Given the description of an element on the screen output the (x, y) to click on. 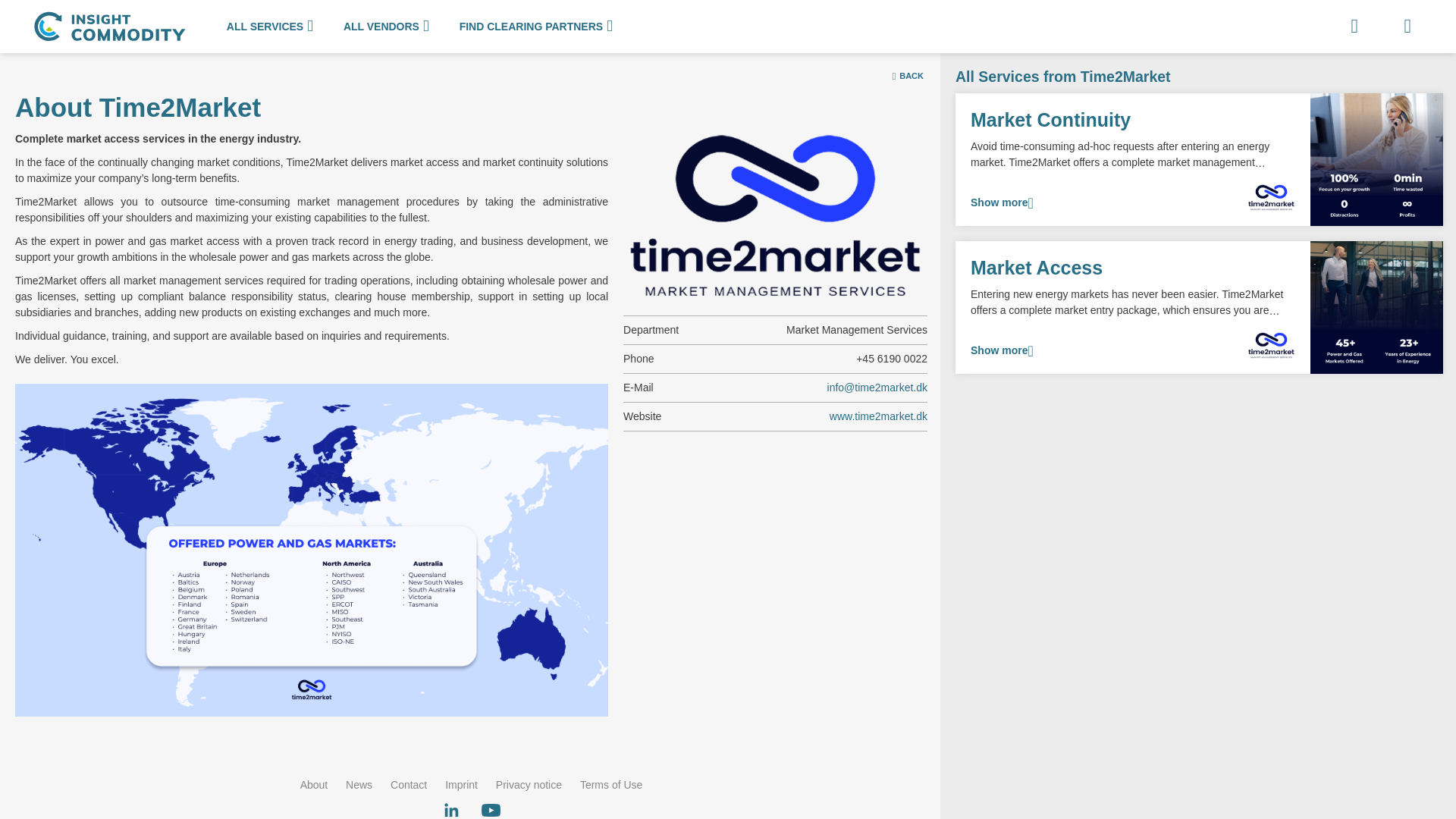
FIND CLEARING PARTNERS (535, 26)
About (314, 784)
Toggle Nav (1407, 26)
Toggle Nav (1407, 26)
Go to product (1198, 306)
www.time2market.dk (878, 416)
Search (1353, 26)
Go to product (1198, 159)
Search (1353, 26)
News (359, 784)
Contact (408, 784)
BACK (907, 76)
Search (1399, 18)
ALL SERVICES (270, 26)
Imprint (461, 784)
